Given the description of an element on the screen output the (x, y) to click on. 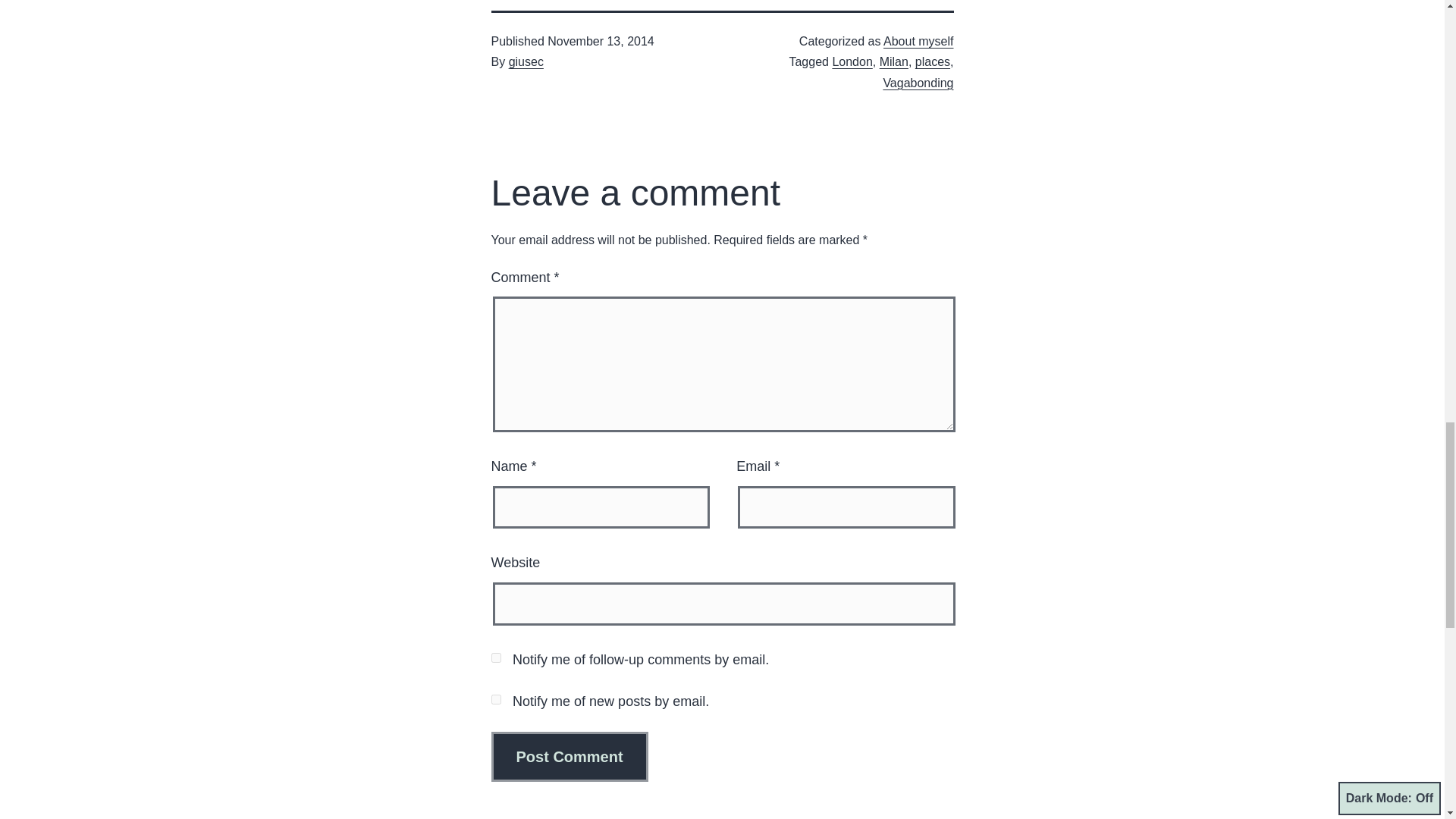
About myself (918, 41)
giusec (525, 61)
Post Comment (569, 757)
